Given the description of an element on the screen output the (x, y) to click on. 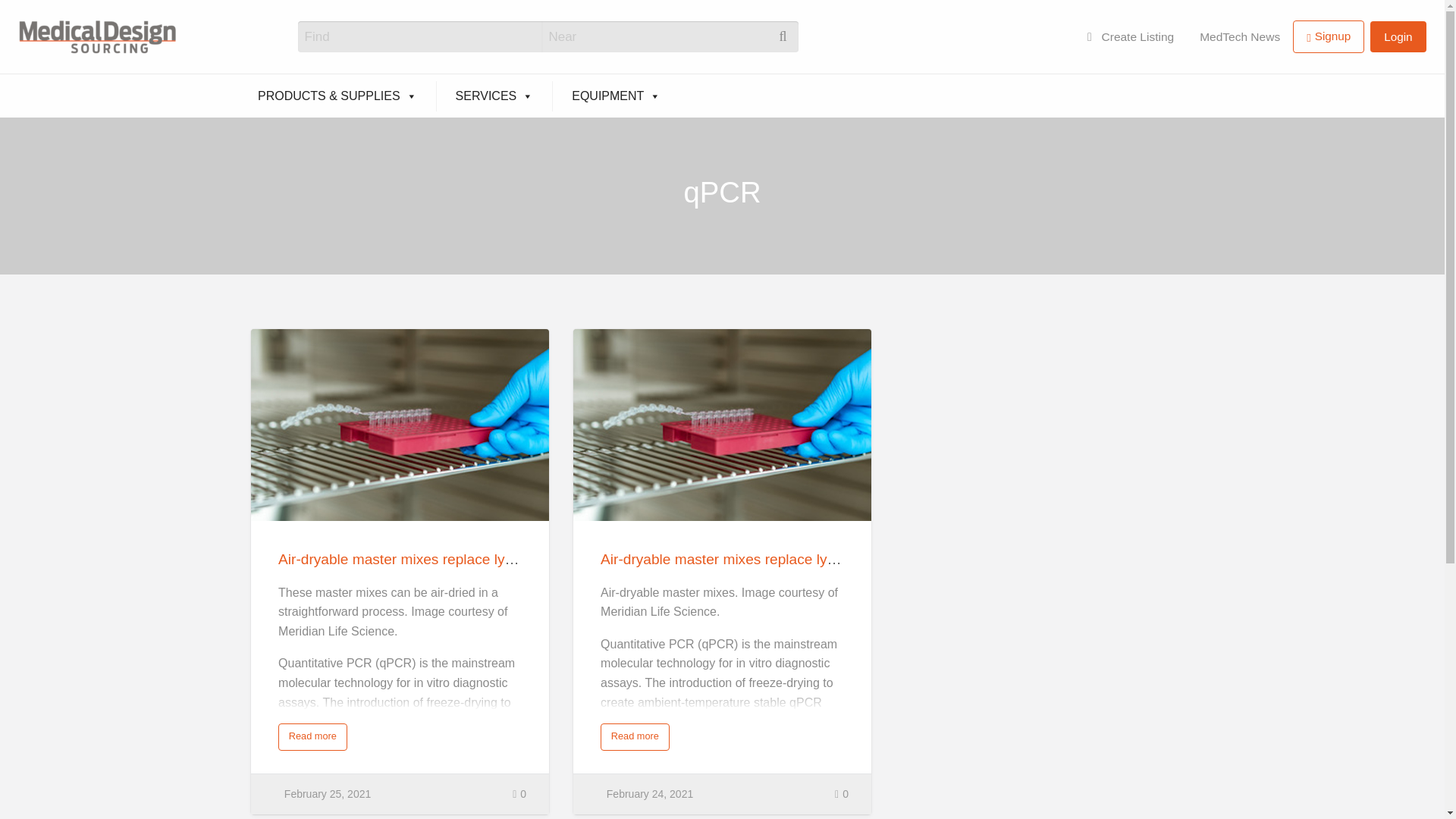
Search (30, 16)
